Given the description of an element on the screen output the (x, y) to click on. 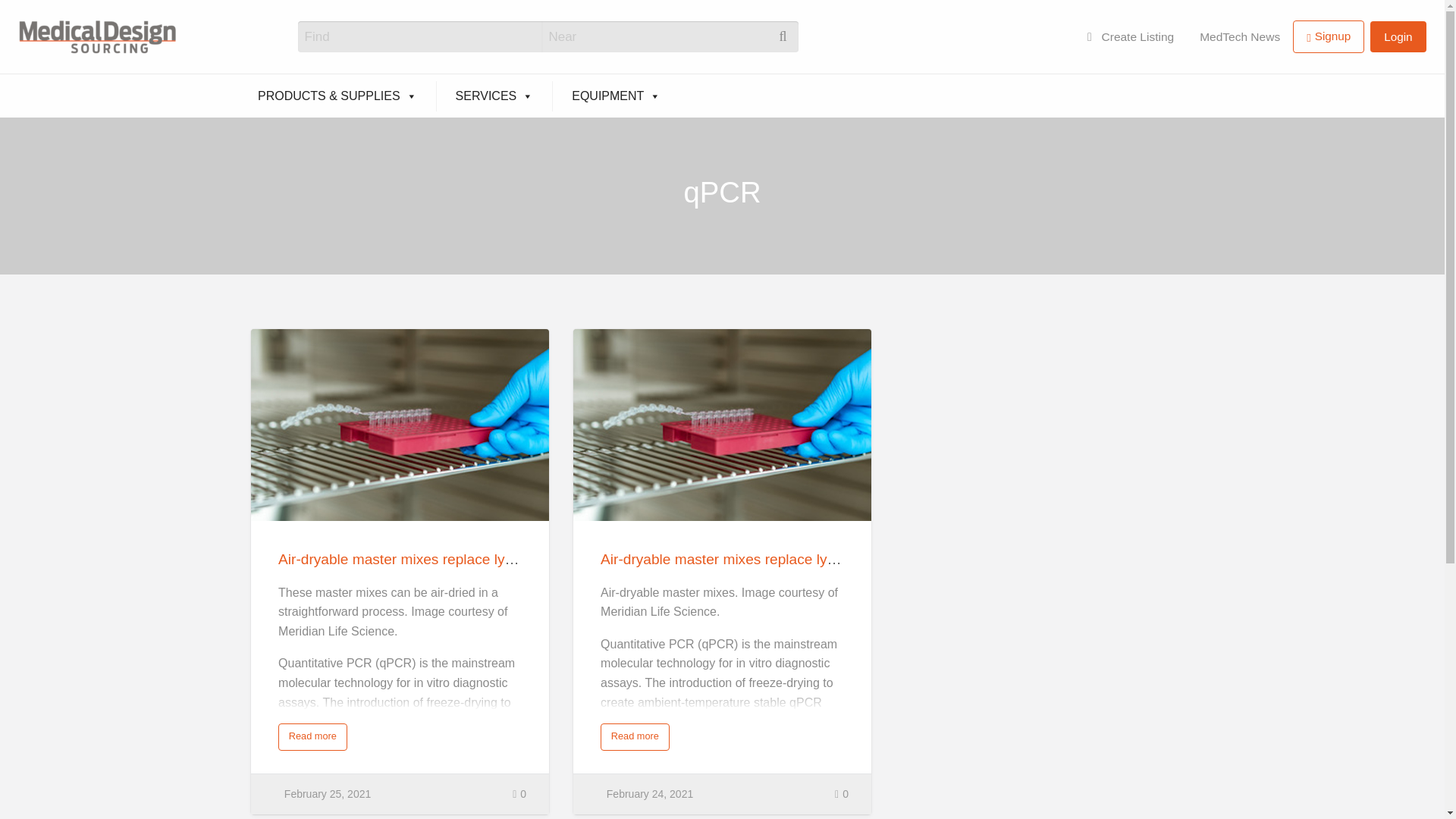
Search (30, 16)
